Given the description of an element on the screen output the (x, y) to click on. 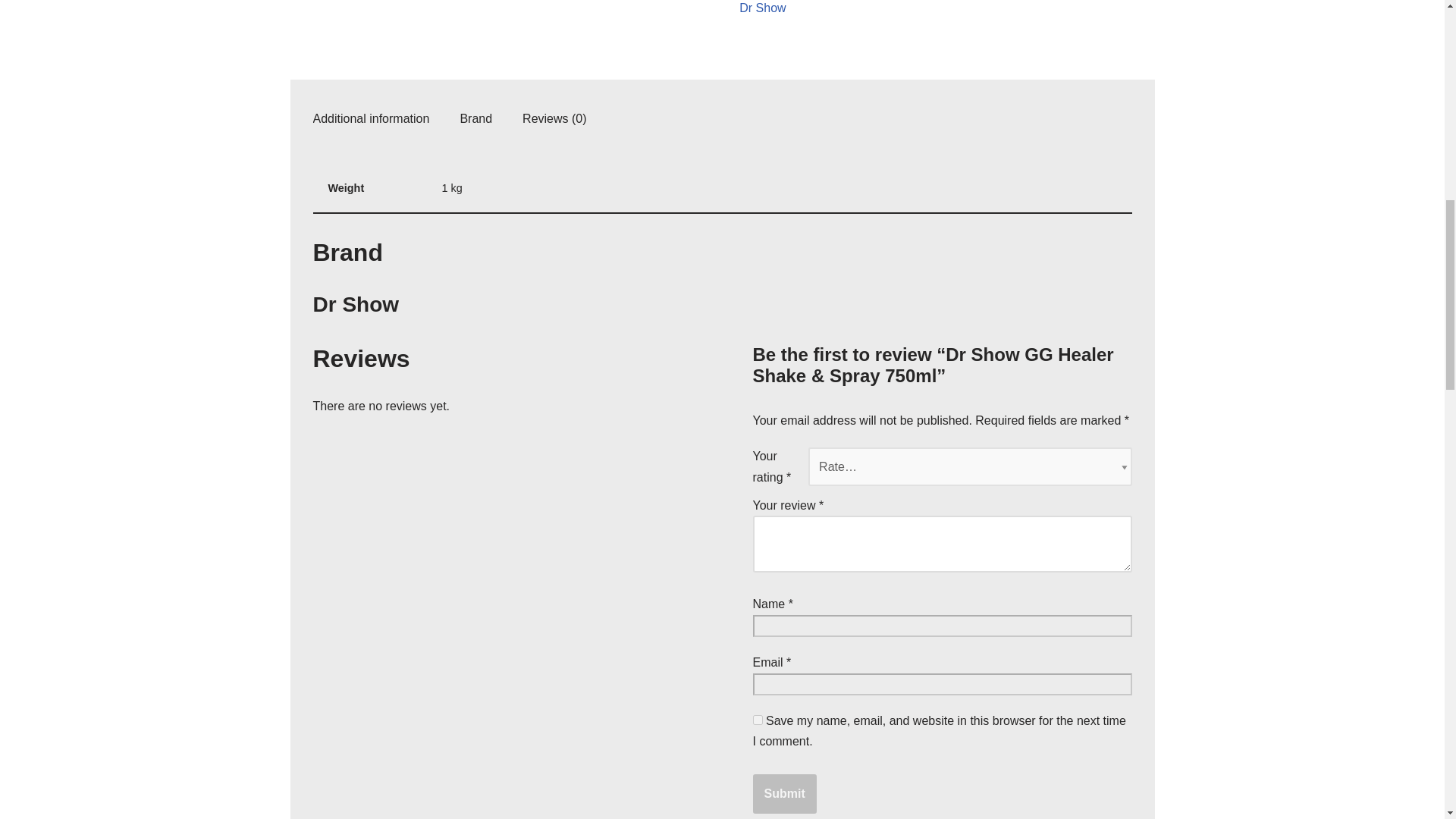
Submit (783, 793)
yes (756, 719)
View brand (762, 9)
